Given the description of an element on the screen output the (x, y) to click on. 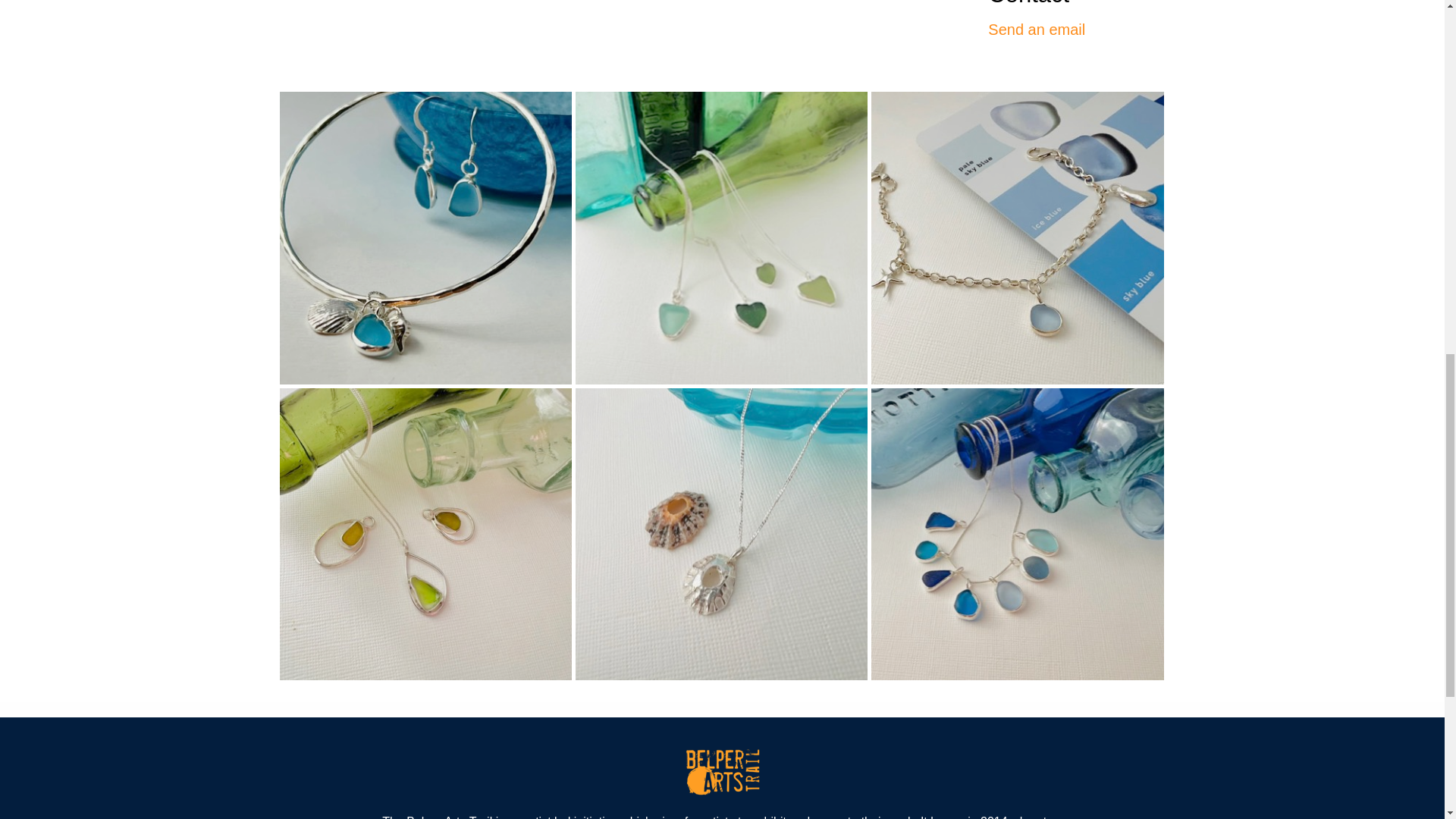
Send an email (1036, 29)
